Given the description of an element on the screen output the (x, y) to click on. 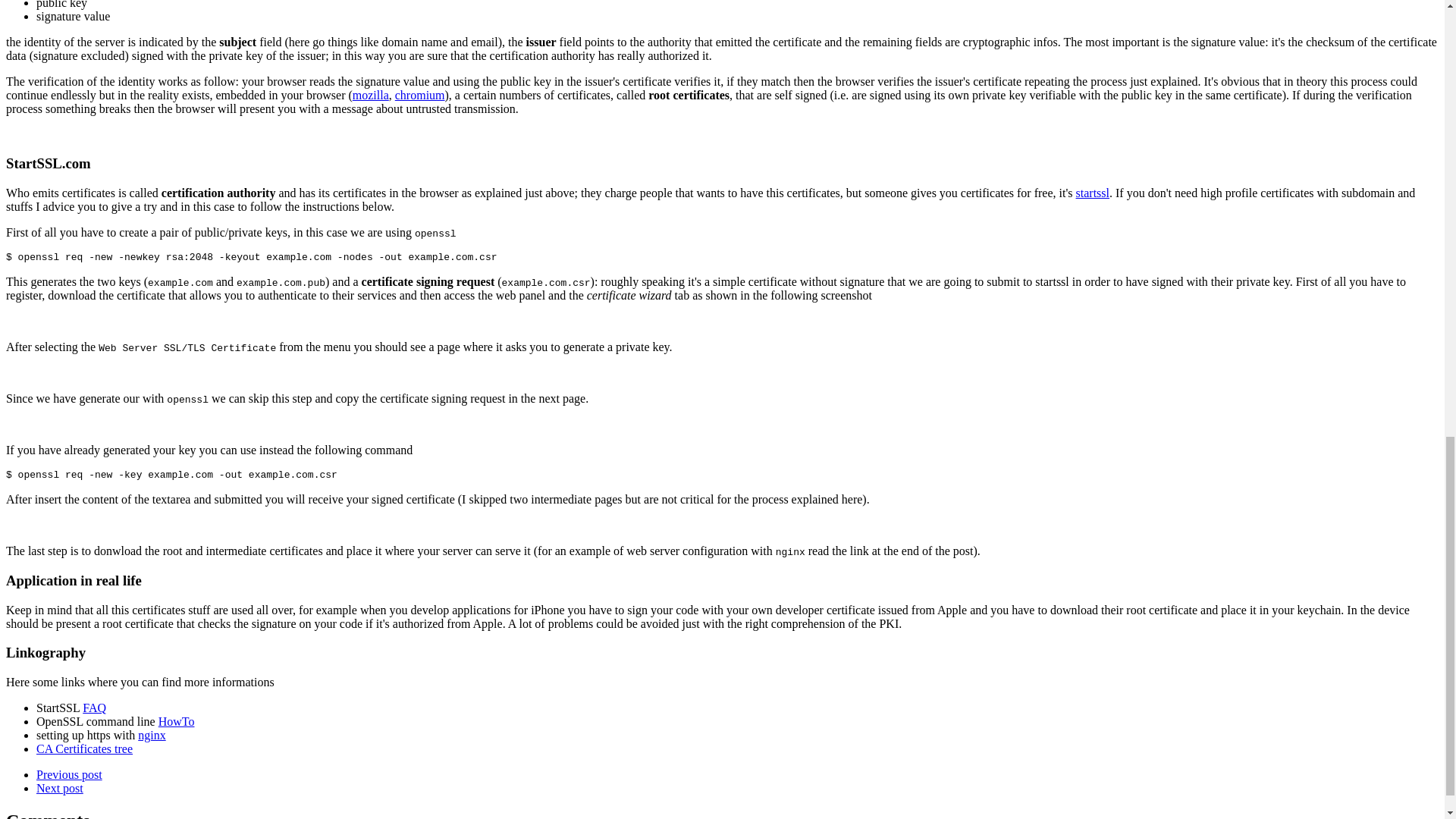
CA Certificates tree (84, 748)
nginx (151, 735)
mozilla (370, 94)
chromium (419, 94)
Next post (59, 788)
HowTo (176, 721)
the amazing world of python: testing (68, 774)
startssl (1092, 192)
FAQ (94, 707)
Previous post (68, 774)
